Given the description of an element on the screen output the (x, y) to click on. 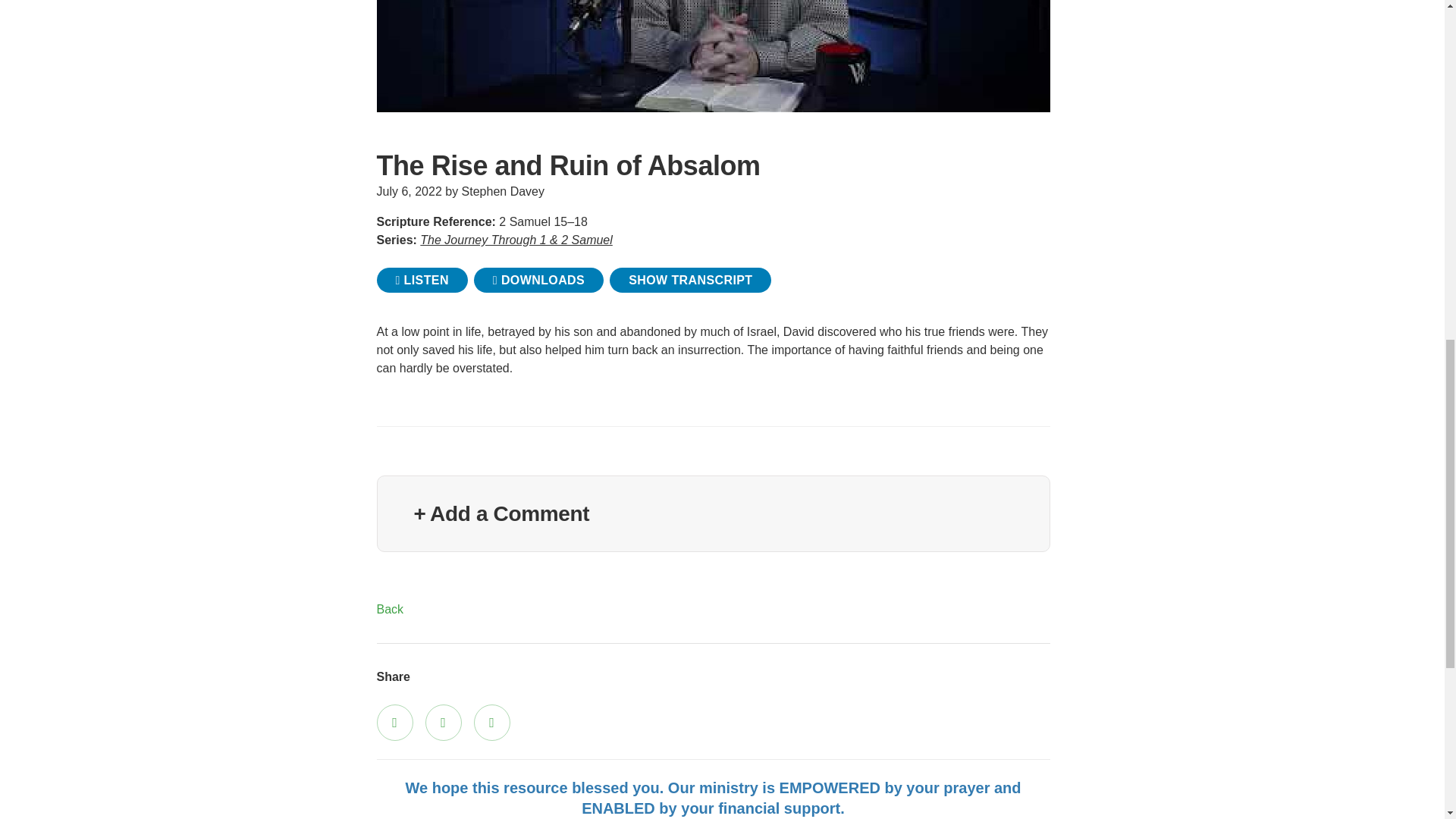
Facebook (393, 722)
SHOW TRANSCRIPT (690, 279)
Twitter (443, 722)
Invite a Friend (491, 722)
DOWNLOADS (539, 279)
Back (389, 608)
LISTEN (421, 279)
